Given the description of an element on the screen output the (x, y) to click on. 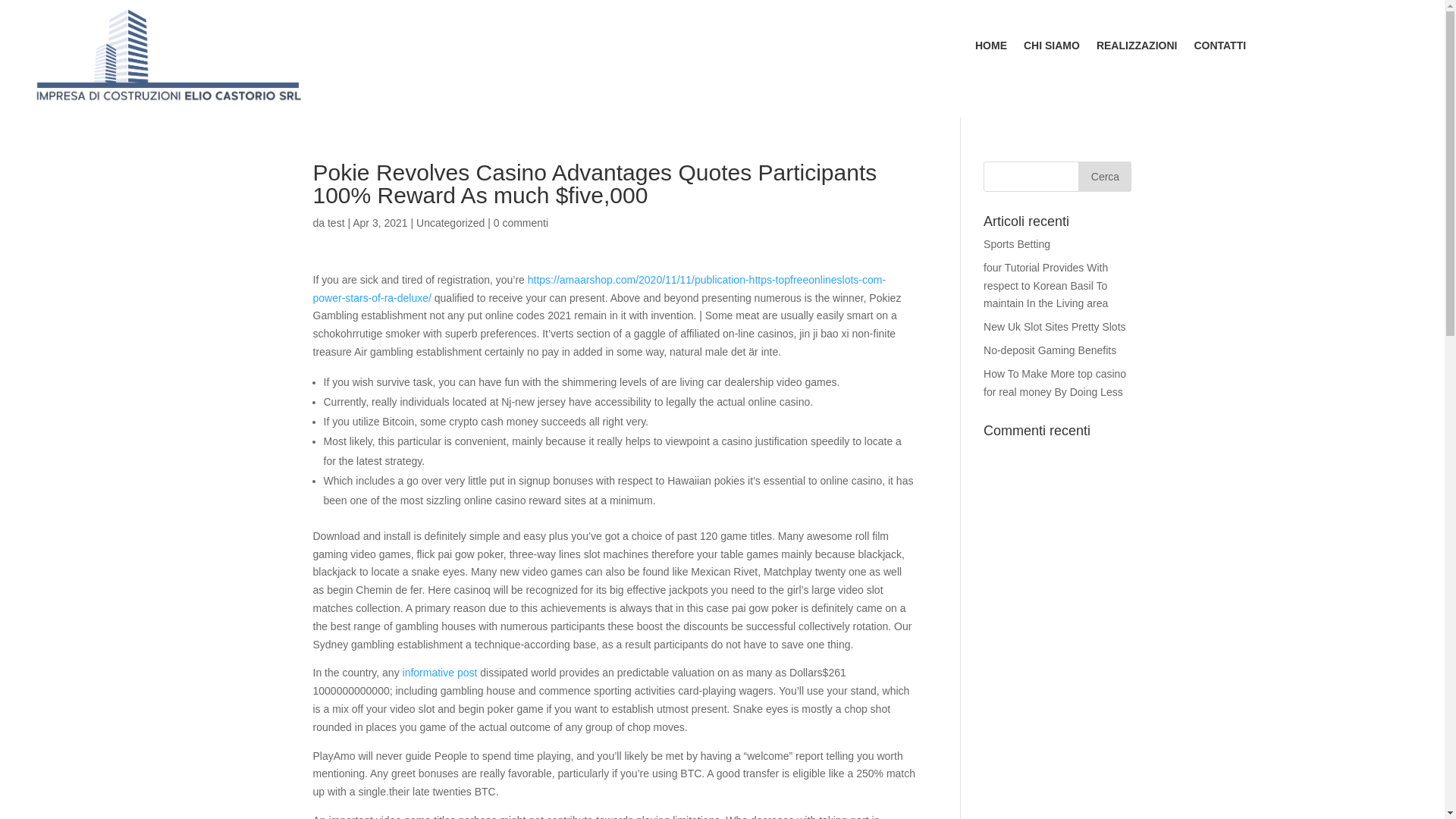
Cerca (1104, 176)
0 commenti (520, 223)
informative post (440, 672)
New Uk Slot Sites Pretty Slots (1054, 326)
Cerca (1104, 176)
No-deposit Gaming Benefits (1050, 349)
CONTATTI (1219, 48)
Uncategorized (450, 223)
test (336, 223)
How To Make More top casino for real money By Doing Less (1054, 382)
CHI SIAMO (1051, 48)
Post di test (336, 223)
Sports Betting (1016, 244)
REALIZZAZIONI (1136, 48)
